Given the description of an element on the screen output the (x, y) to click on. 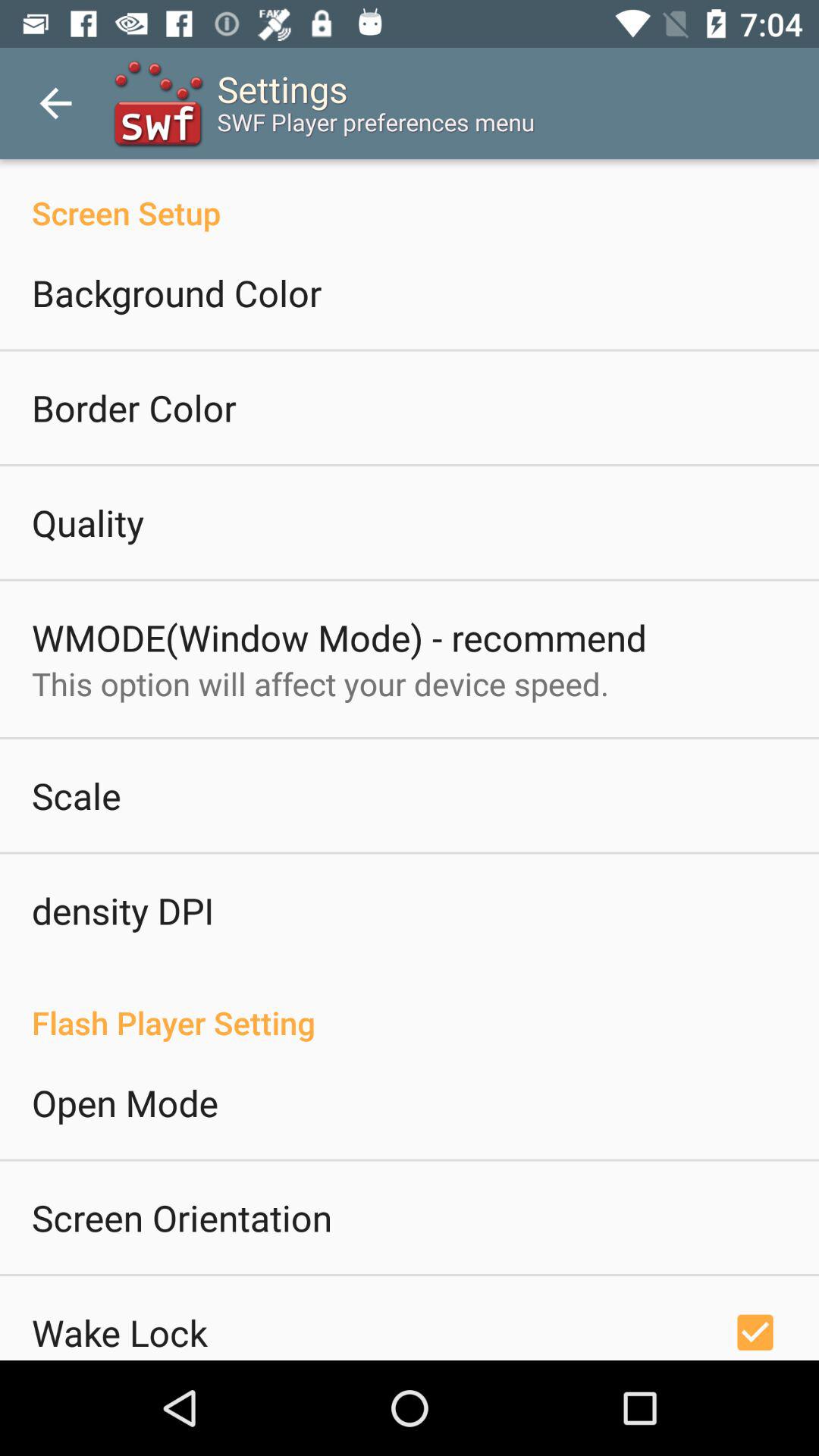
press icon below the open mode icon (181, 1217)
